Given the description of an element on the screen output the (x, y) to click on. 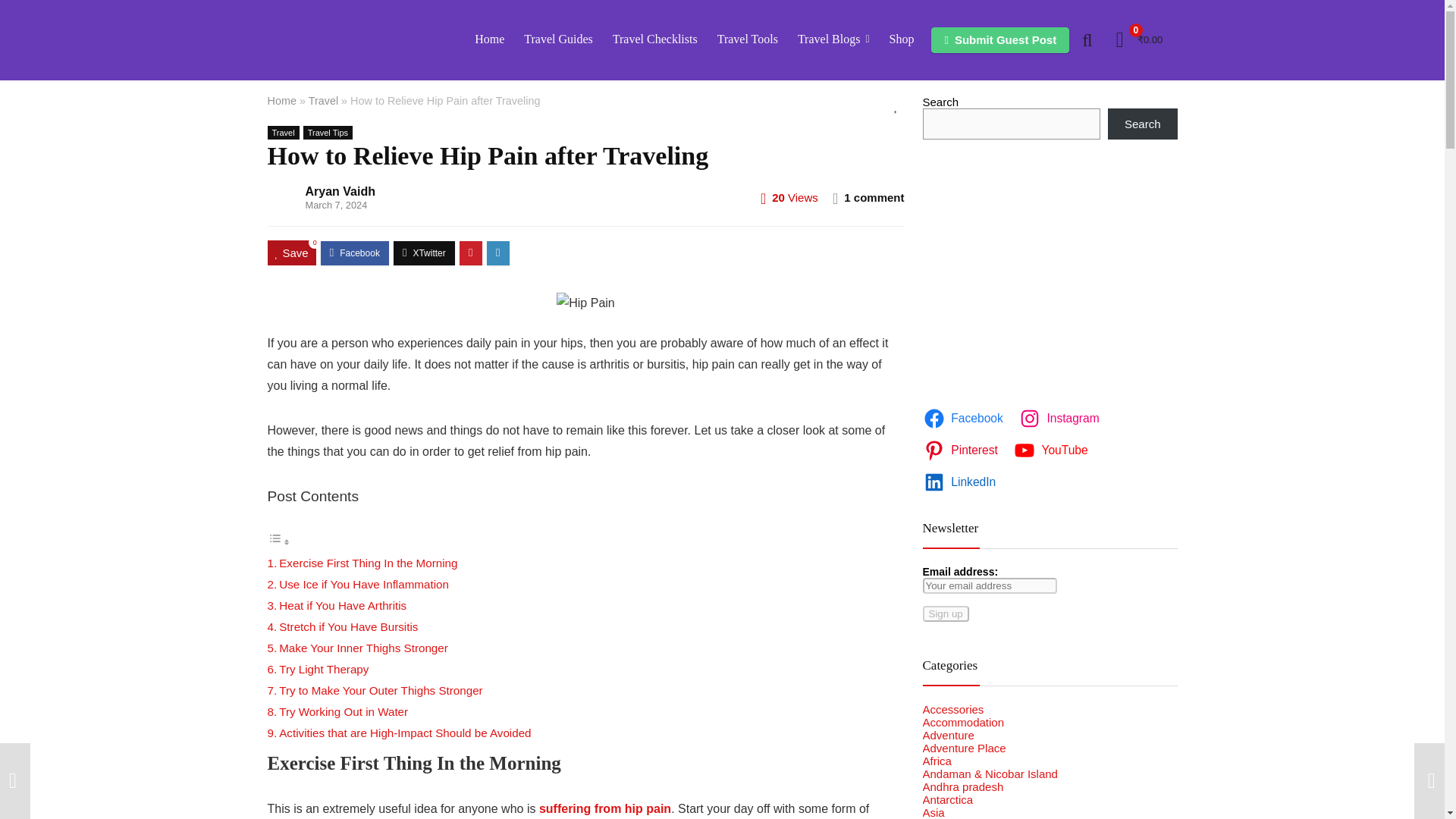
Try Light Therapy (323, 668)
Try to Make Your Outer Thighs Stronger (380, 689)
View all posts in Travel (282, 132)
Travel Tools (747, 39)
Exercise First Thing In the Morning (368, 562)
Use Ice if You Have Inflammation (363, 584)
Travel Checklists (654, 39)
Activities that are High-Impact Should be Avoided (405, 732)
Travel Guides (557, 39)
Make Your Inner Thighs Stronger (363, 647)
View all posts in Travel Tips (327, 132)
Home (488, 39)
Travel Blogs (833, 39)
Sign up (944, 613)
Stretch if You Have Bursitis (348, 626)
